Given the description of an element on the screen output the (x, y) to click on. 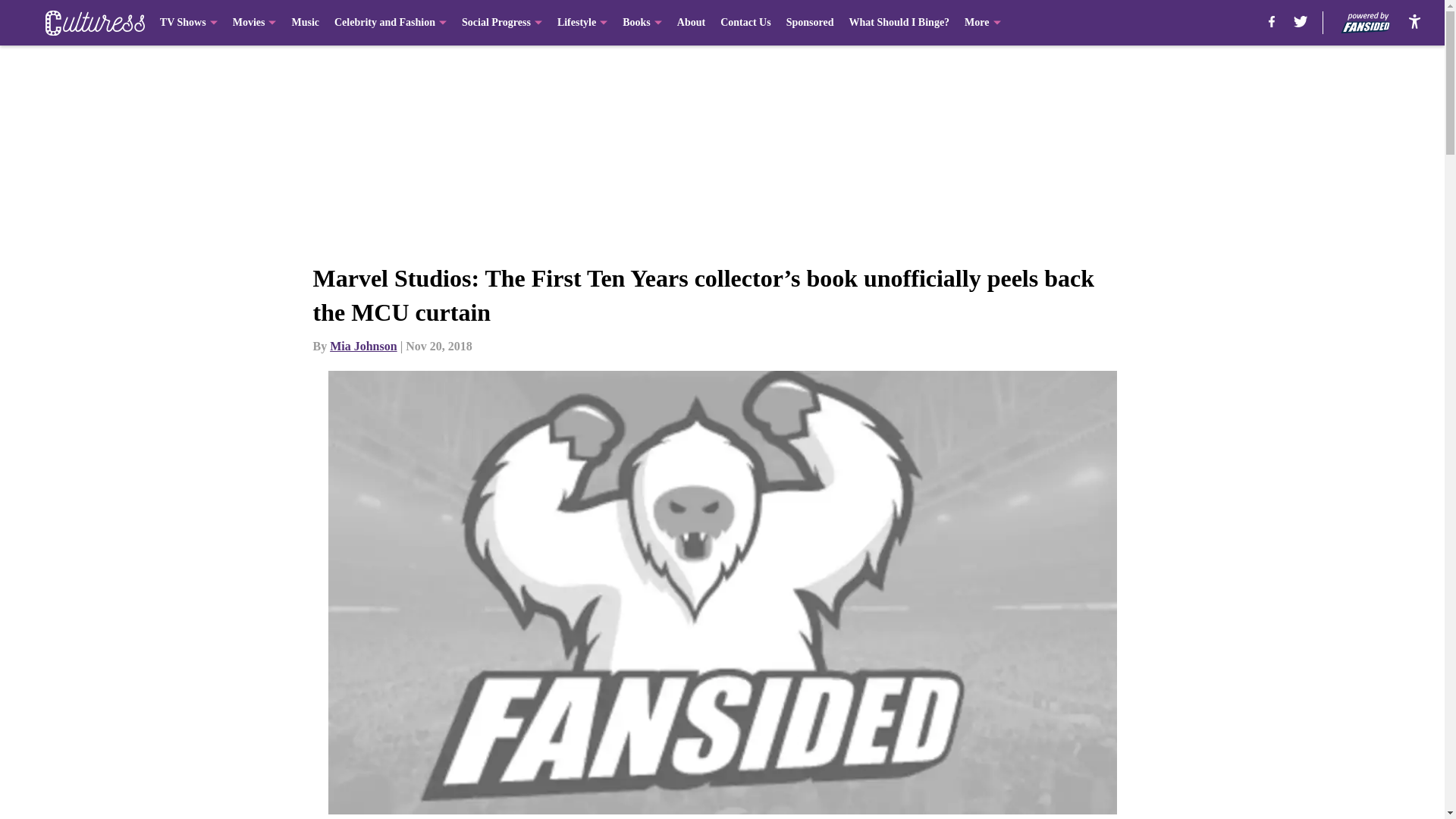
Music (304, 22)
